Given the description of an element on the screen output the (x, y) to click on. 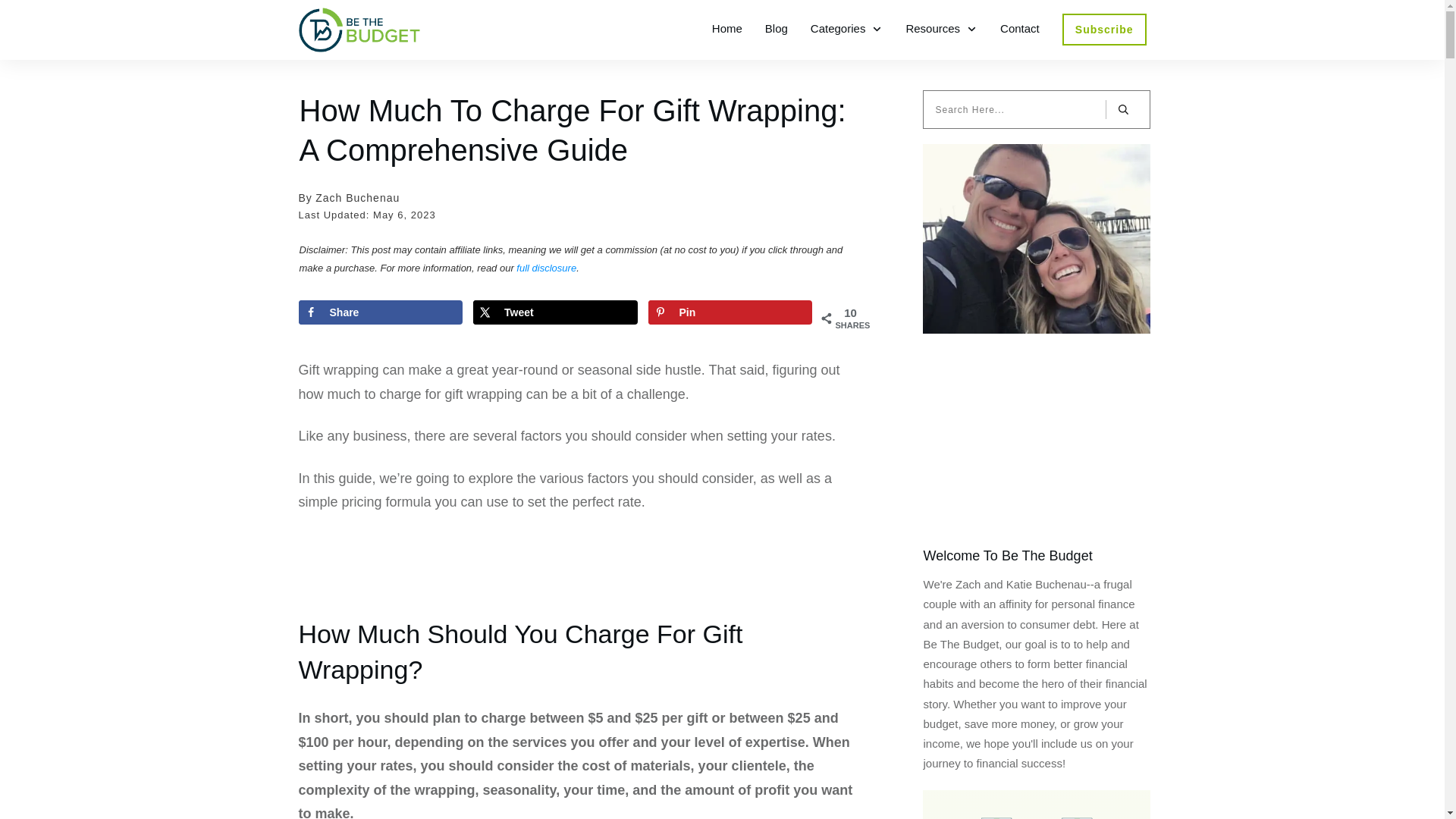
Save to Pinterest (729, 312)
Contact (1019, 28)
Resources (940, 28)
Categories (846, 28)
Share on Facebook (380, 312)
Pin (729, 312)
Blog (776, 28)
full disclosure (546, 267)
Tweet (555, 312)
Financial Habit Tracker Bundle (1036, 812)
